Given the description of an element on the screen output the (x, y) to click on. 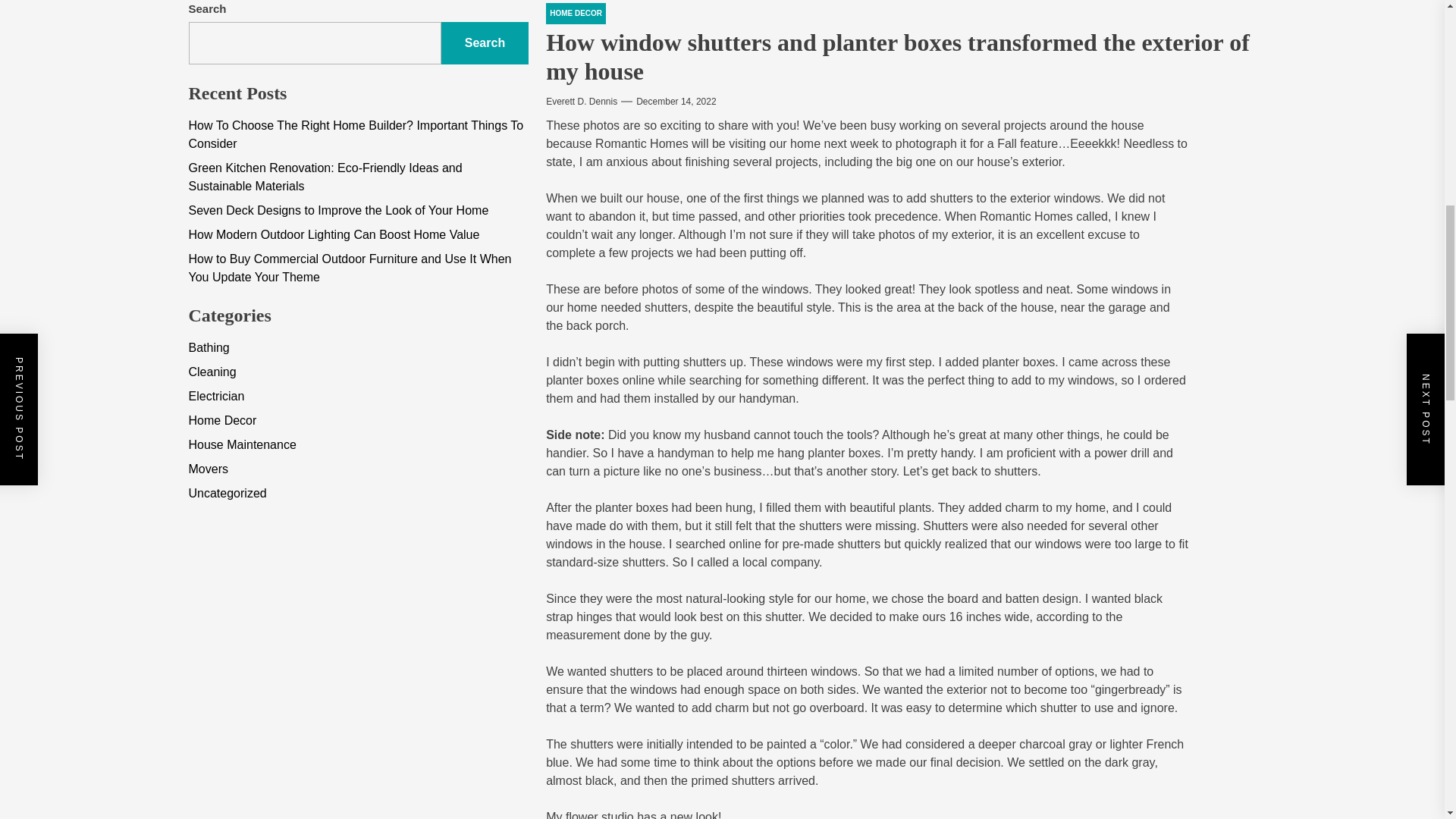
Everett D. Dennis (581, 101)
December 14, 2022 (676, 101)
HOME DECOR (575, 13)
